Given the description of an element on the screen output the (x, y) to click on. 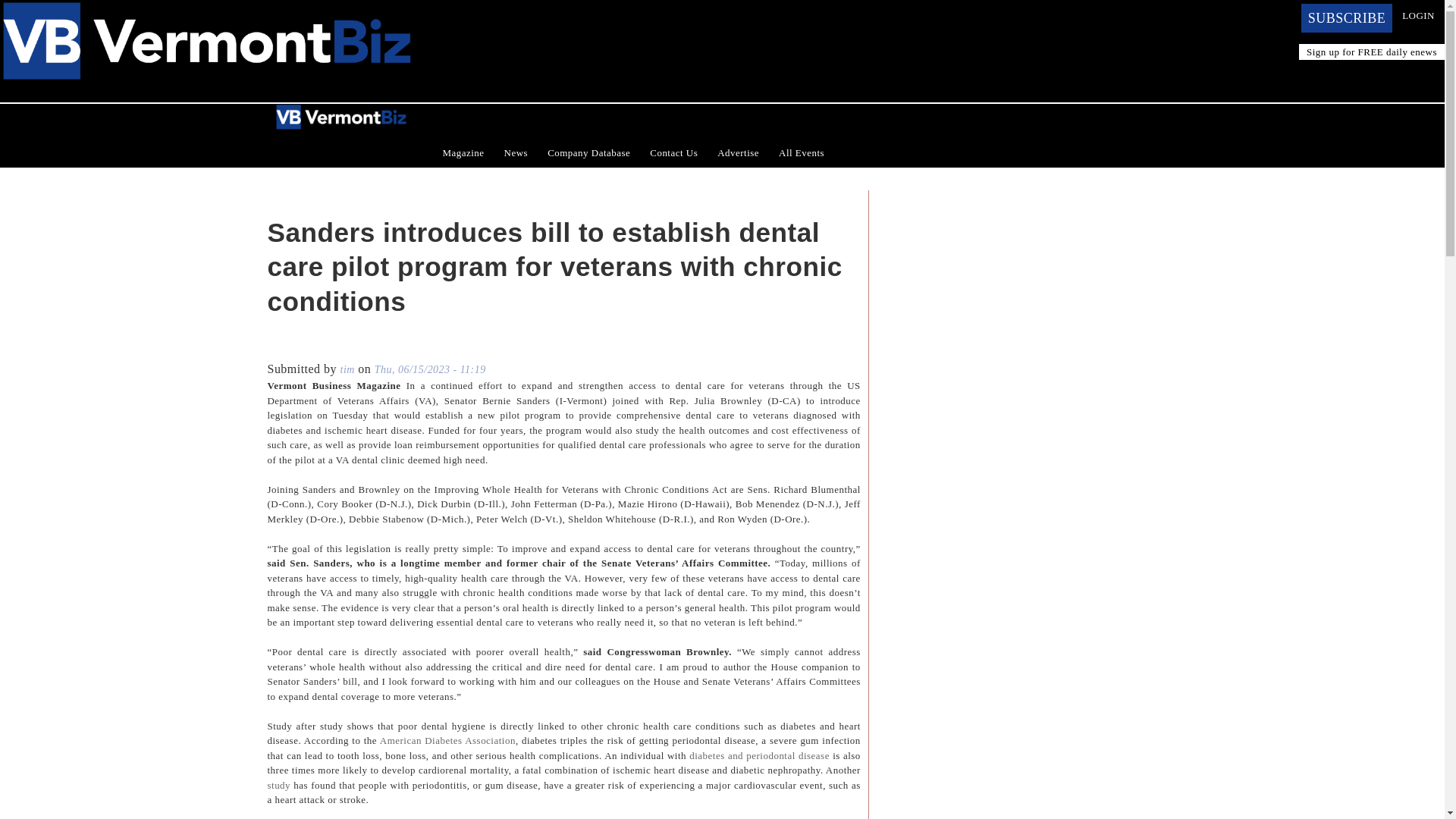
Share to X (298, 346)
Share to Linkedin (320, 346)
Share to Facebook (277, 346)
News (516, 152)
LOGIN (1418, 15)
A (851, 207)
All Events (801, 152)
American Diabetes Association (447, 740)
study (277, 785)
Thursday, June 15, 2023 - 11:19 (430, 369)
Advertise (737, 152)
Home (206, 8)
Magazine (462, 152)
SUBSCRIBE (1346, 18)
